Given the description of an element on the screen output the (x, y) to click on. 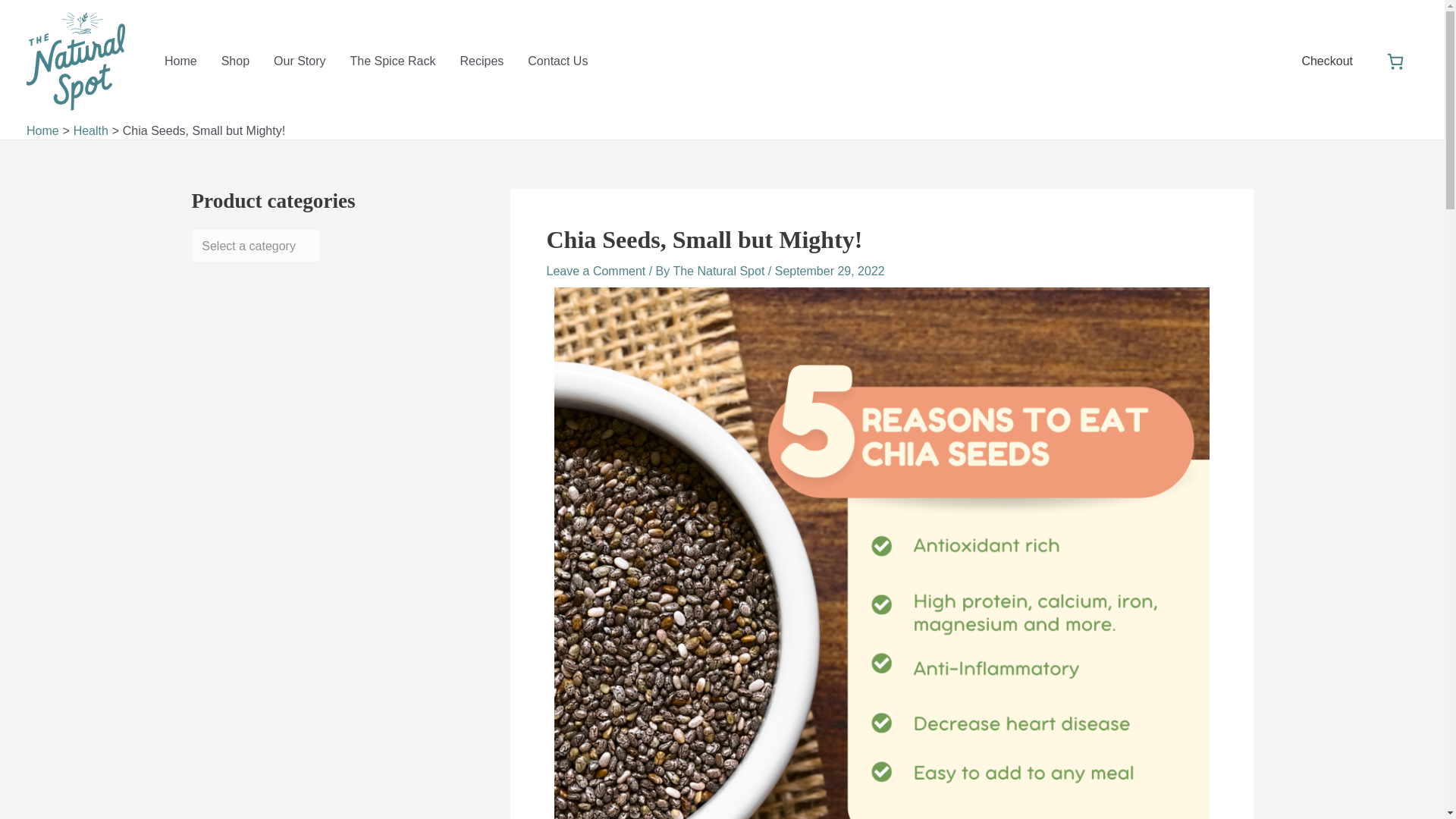
Health (90, 130)
Leave a Comment (595, 270)
Contact Us (557, 61)
The Natural Spot (719, 270)
Checkout (1326, 61)
Home (180, 61)
Recipes (480, 61)
View all posts by The Natural Spot (719, 270)
The Spice Rack (392, 61)
Home (42, 130)
